Given the description of an element on the screen output the (x, y) to click on. 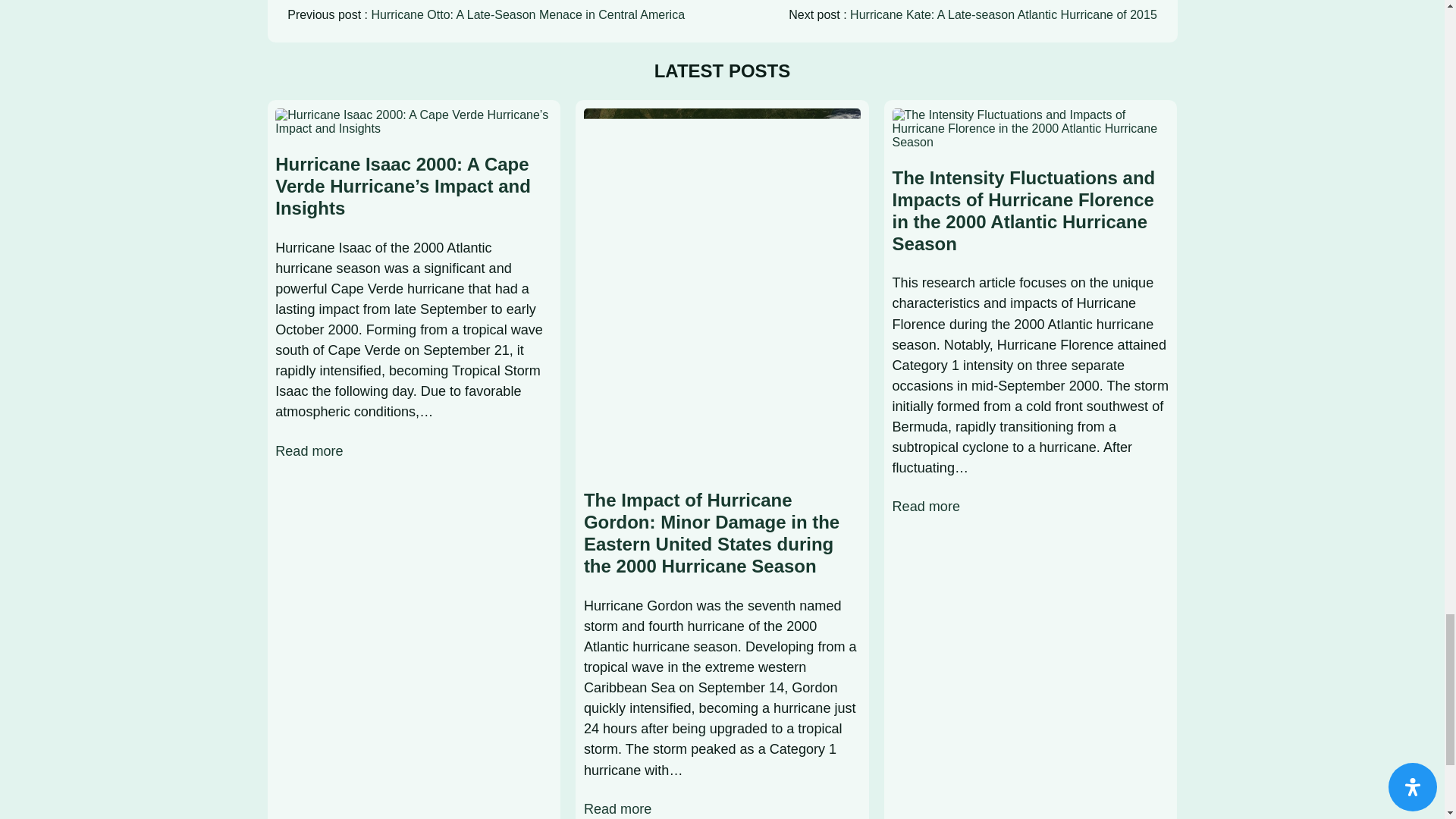
Hurricane Kate: A Late-season Atlantic Hurricane of 2015 (1003, 14)
Read more (308, 451)
Read more (925, 506)
Hurricane Otto: A Late-Season Menace in Central America (528, 14)
Read more (616, 809)
